Given the description of an element on the screen output the (x, y) to click on. 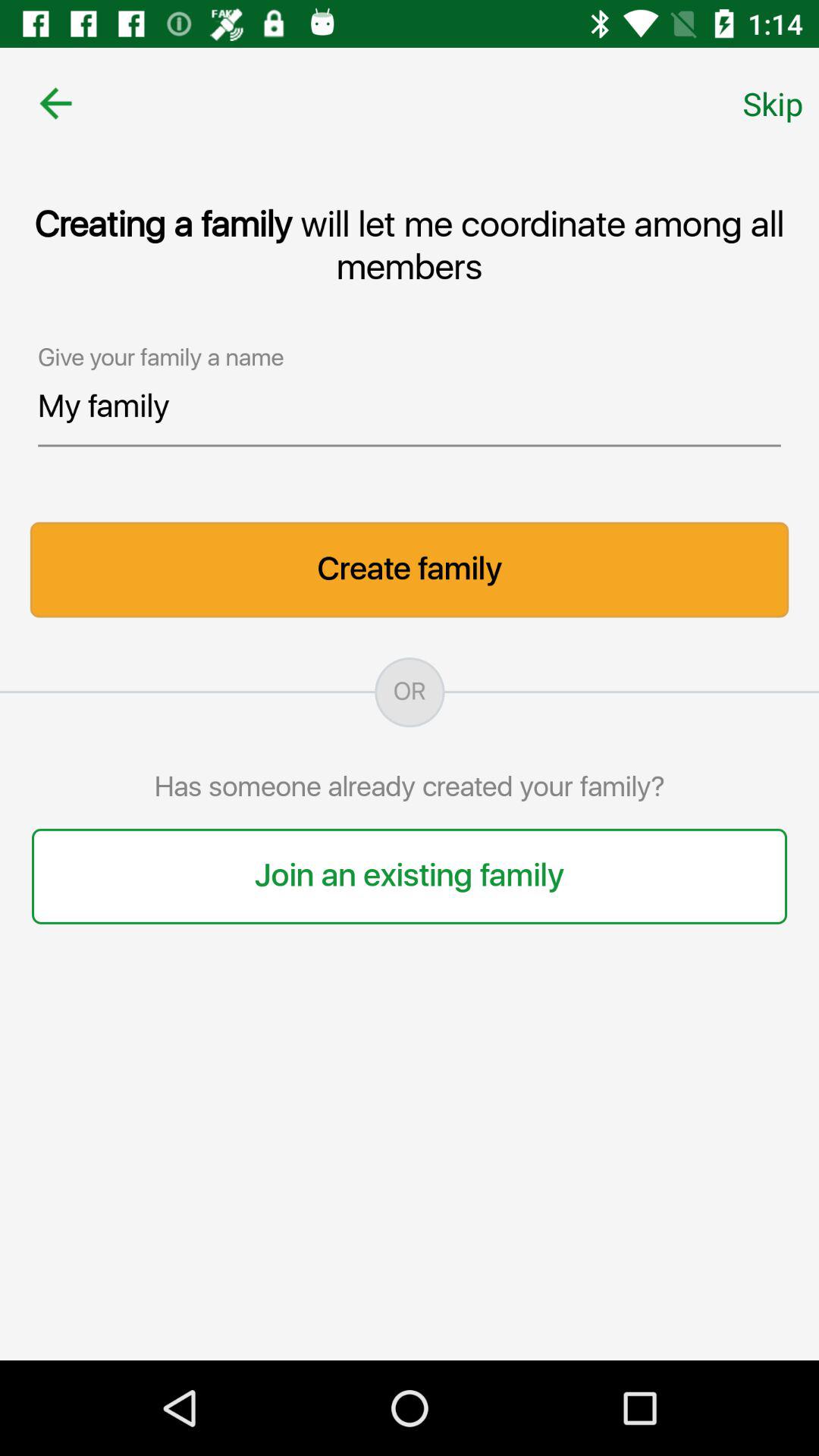
select the item below the or item (409, 787)
